Given the description of an element on the screen output the (x, y) to click on. 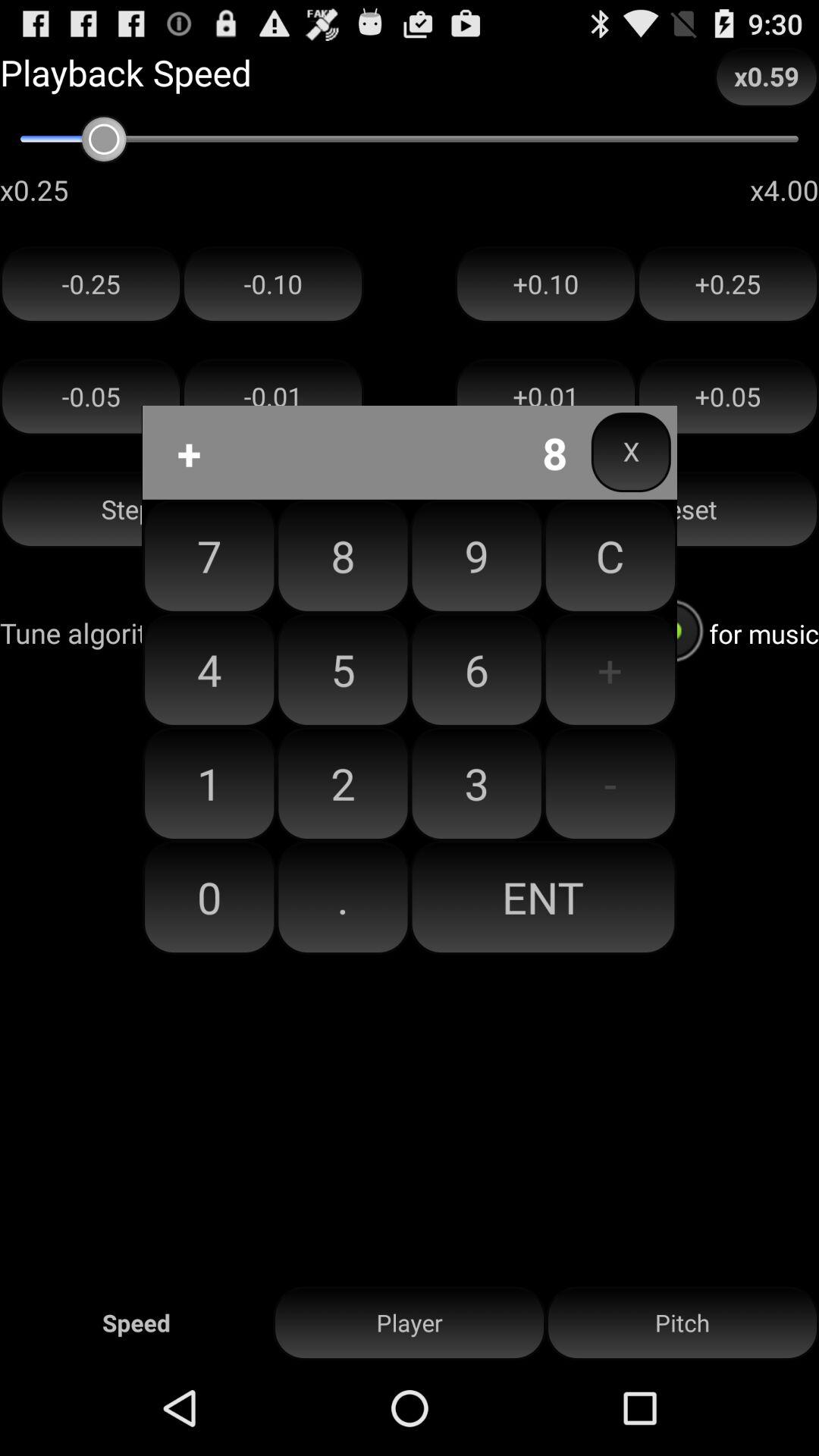
swipe to c (609, 556)
